Given the description of an element on the screen output the (x, y) to click on. 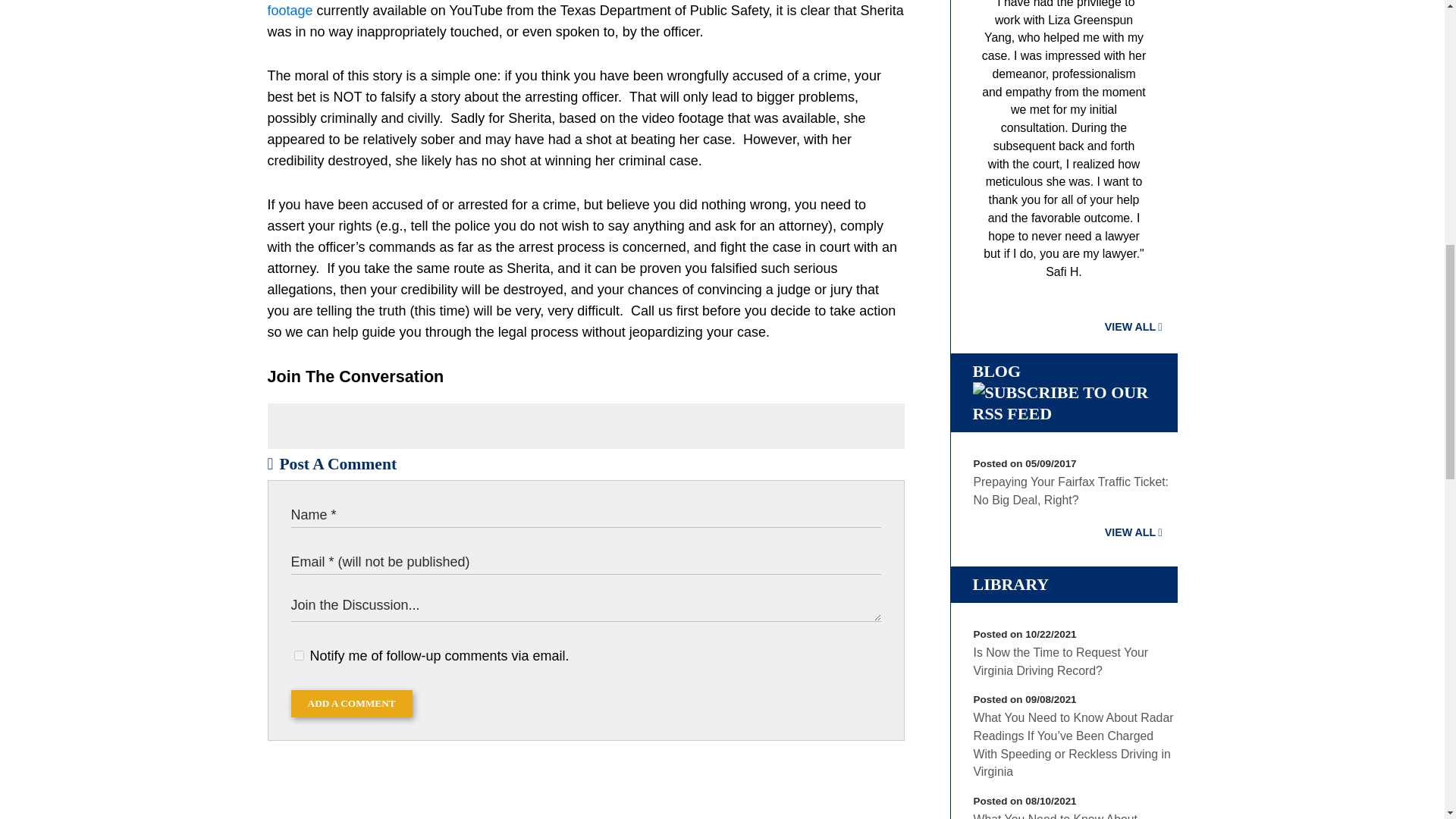
1 (299, 655)
Subscribe to our RSS Feed (1063, 413)
